Given the description of an element on the screen output the (x, y) to click on. 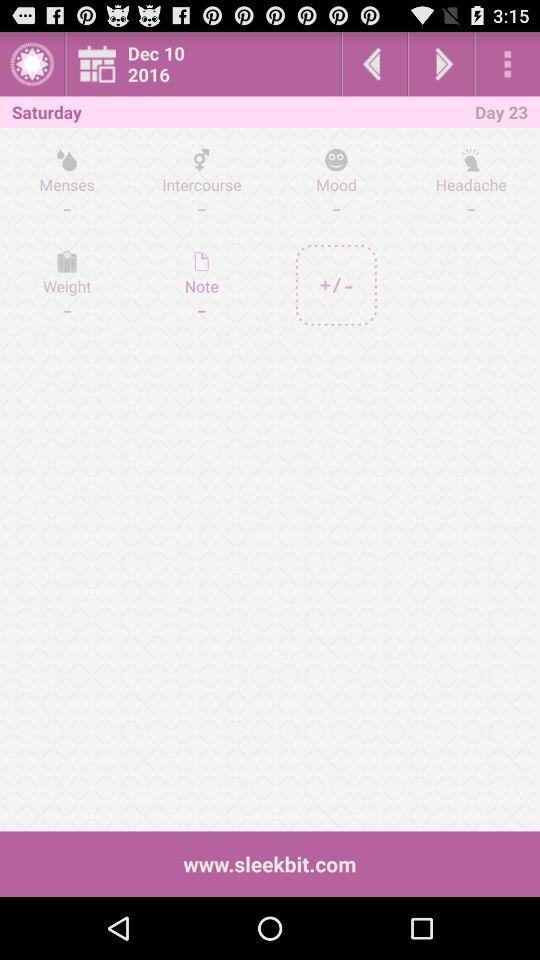
check meun option (507, 63)
